Given the description of an element on the screen output the (x, y) to click on. 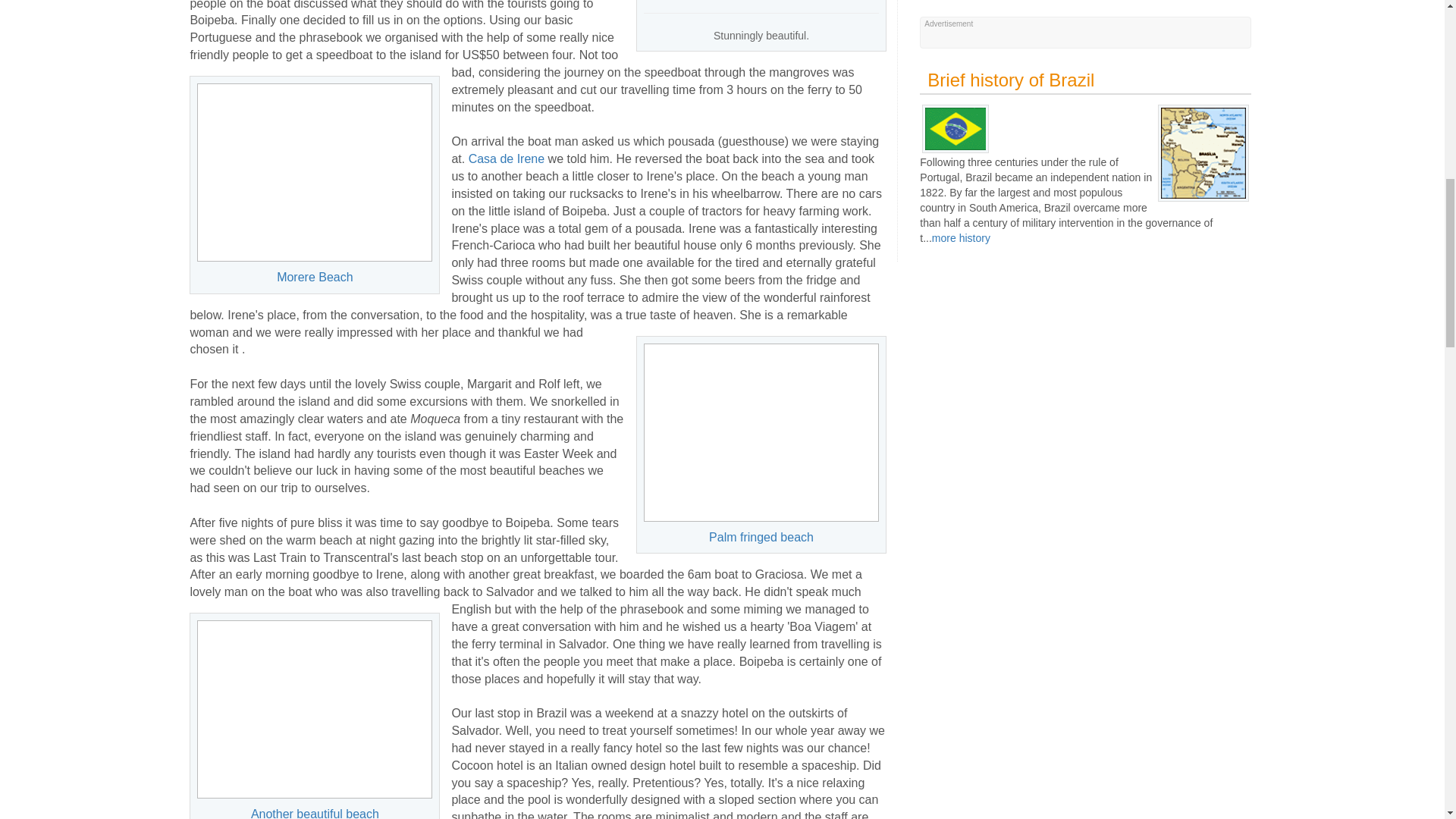
Another beautiful beach (314, 708)
Morere Beach (314, 172)
Palm fringed beach  (761, 432)
